Given the description of an element on the screen output the (x, y) to click on. 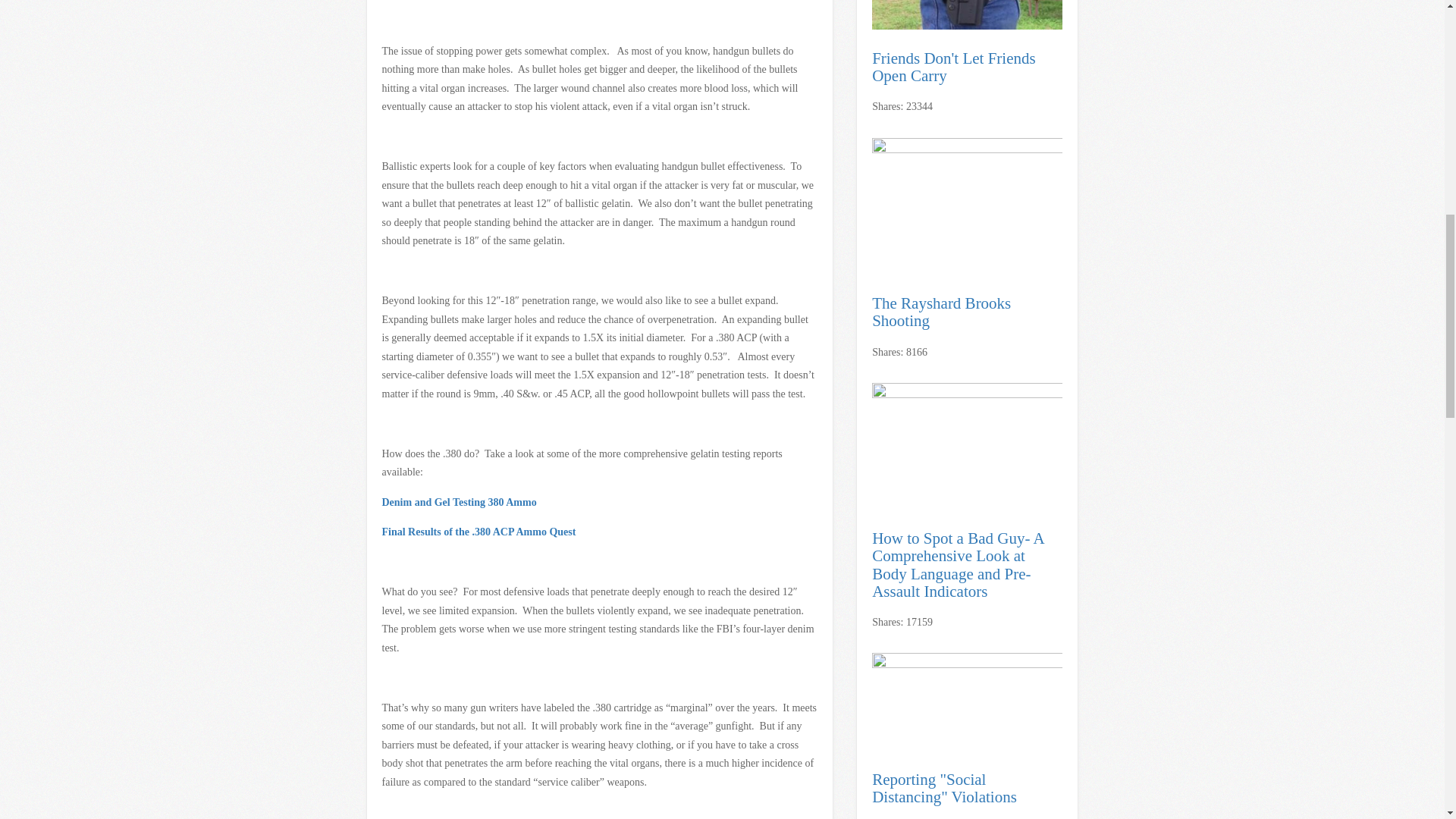
The Rayshard Brooks Shooting (967, 312)
Reporting "Social Distancing" Violations (967, 788)
Final Results of the .380 ACP Ammo Quest (478, 531)
Denim and Gel Testing 380 Ammo (459, 501)
Friends Don't Let Friends Open Carry (967, 67)
Friends Don't Let Friends Open Carry (967, 15)
The Rayshard Brooks Shooting (967, 206)
Friends Don't Let Friends Open Carry (967, 67)
Reporting "Social Distancing" Violations (967, 701)
The Rayshard Brooks Shooting (967, 312)
